Given the description of an element on the screen output the (x, y) to click on. 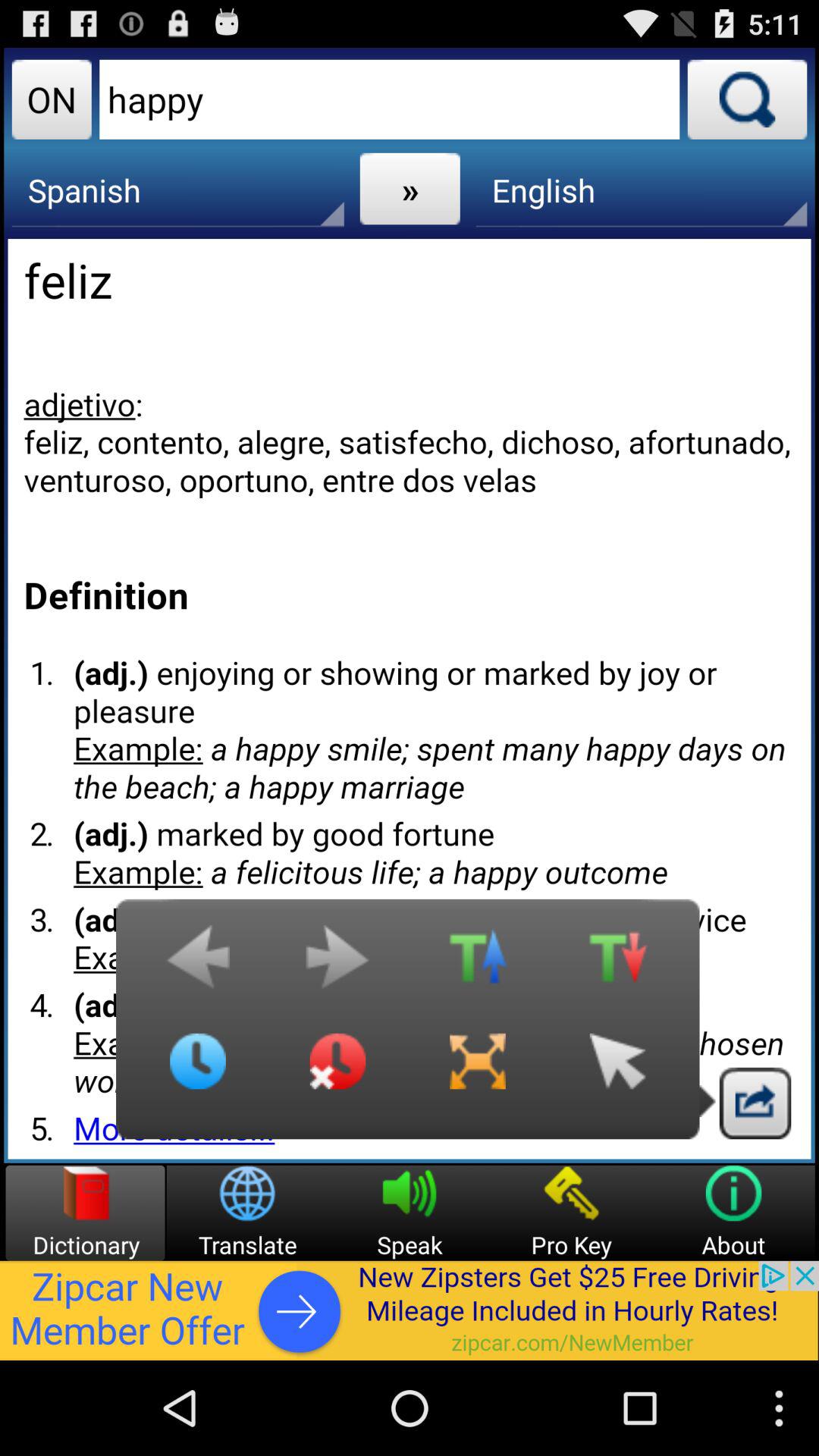
go to clock (197, 1073)
